Given the description of an element on the screen output the (x, y) to click on. 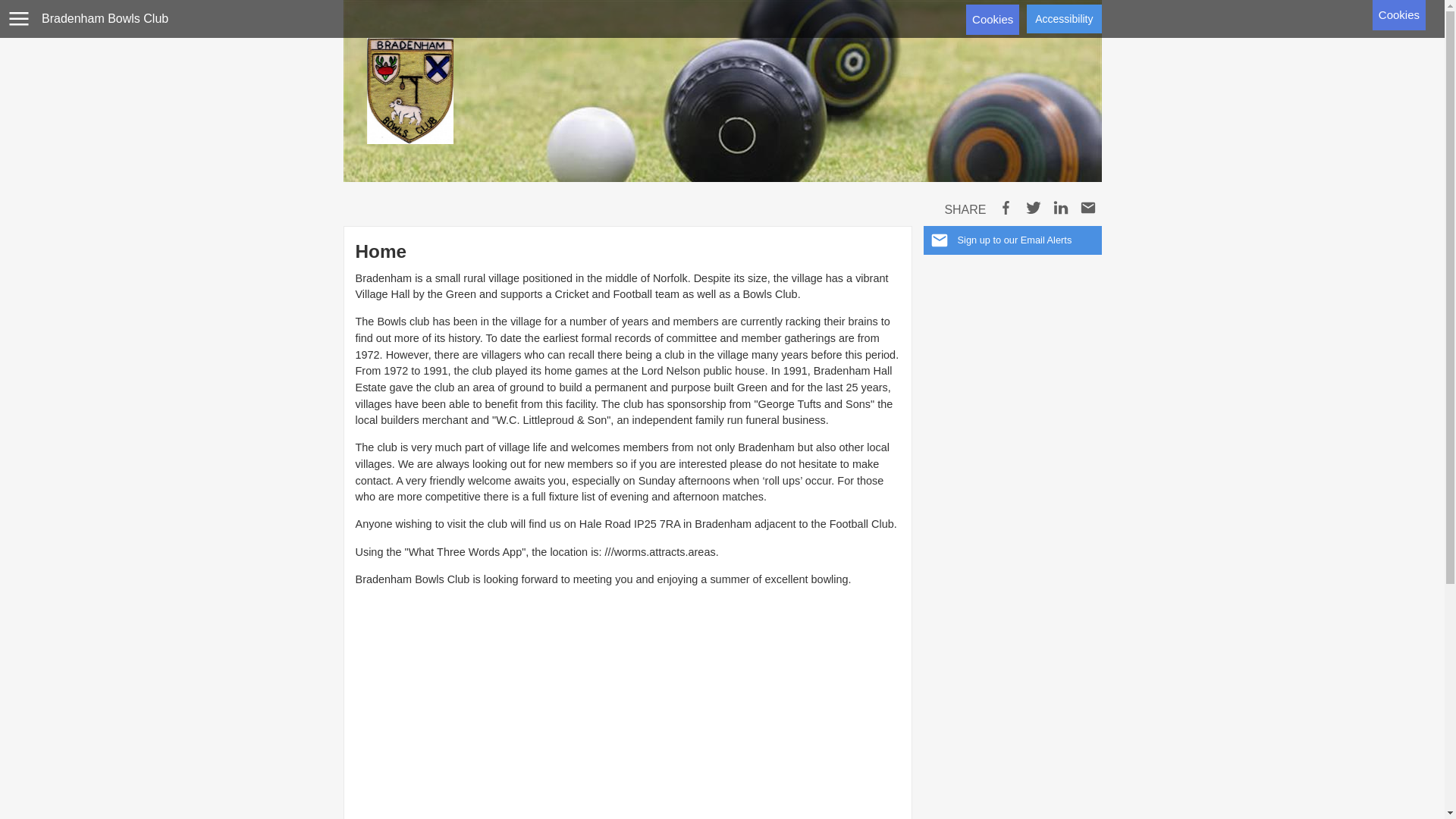
Cookies (992, 19)
Cookies (1399, 15)
Accessibility (1063, 18)
